Given the description of an element on the screen output the (x, y) to click on. 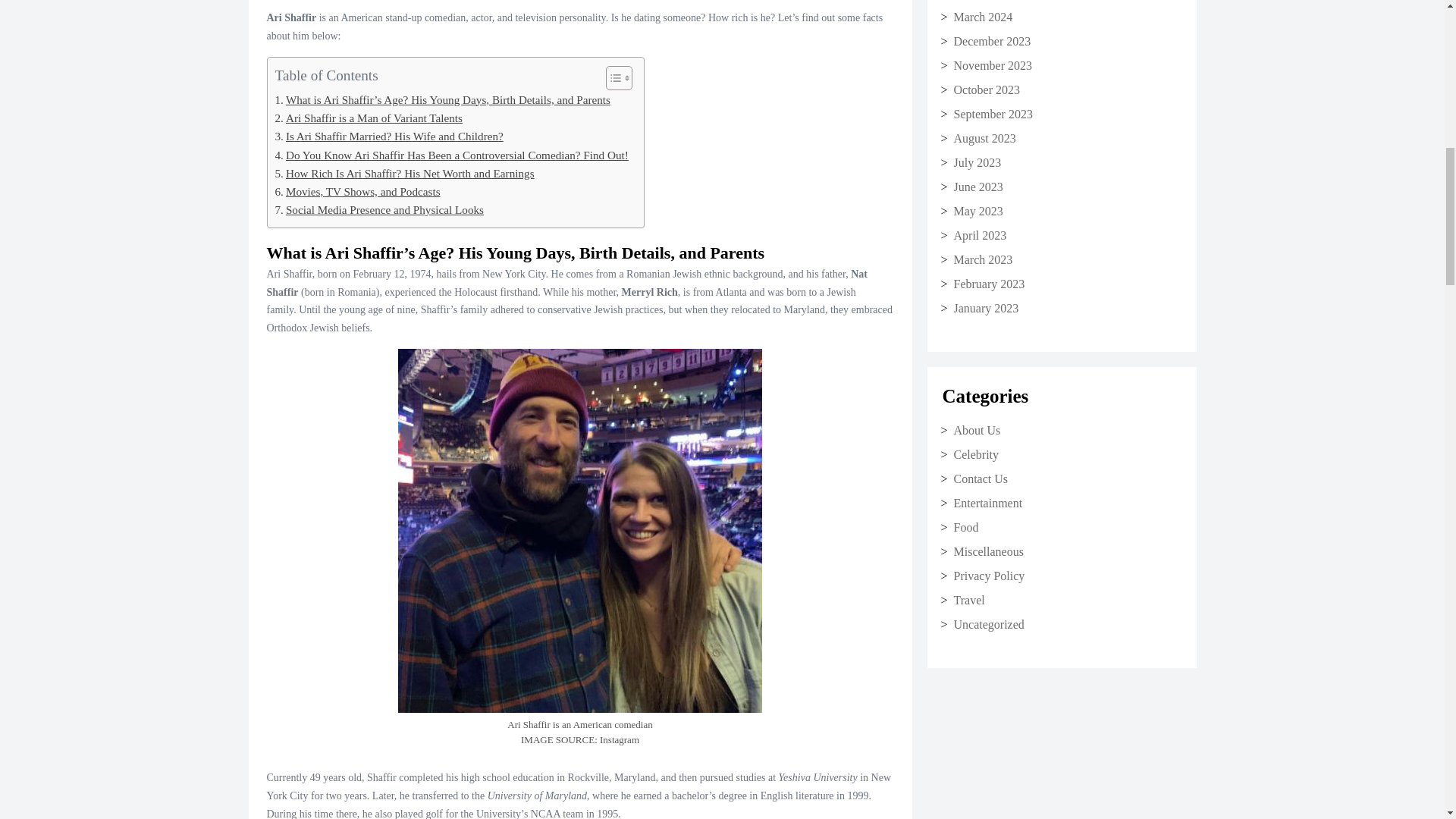
Ari Shaffir is a Man of Variant Talents (368, 124)
Social Media Presence and Physical Looks (379, 216)
Ari Shaffir is a Man of Variant Talents (368, 124)
Is Ari Shaffir Married? His Wife and Children? (388, 142)
How Rich Is Ari Shaffir? His Net Worth and Earnings (404, 179)
How Rich Is Ari Shaffir? His Net Worth and Earnings (404, 179)
Movies, TV Shows, and Podcasts (357, 198)
Social Media Presence and Physical Looks (379, 216)
Is Ari Shaffir Married? His Wife and Children? (388, 142)
Movies, TV Shows, and Podcasts (357, 198)
